Given the description of an element on the screen output the (x, y) to click on. 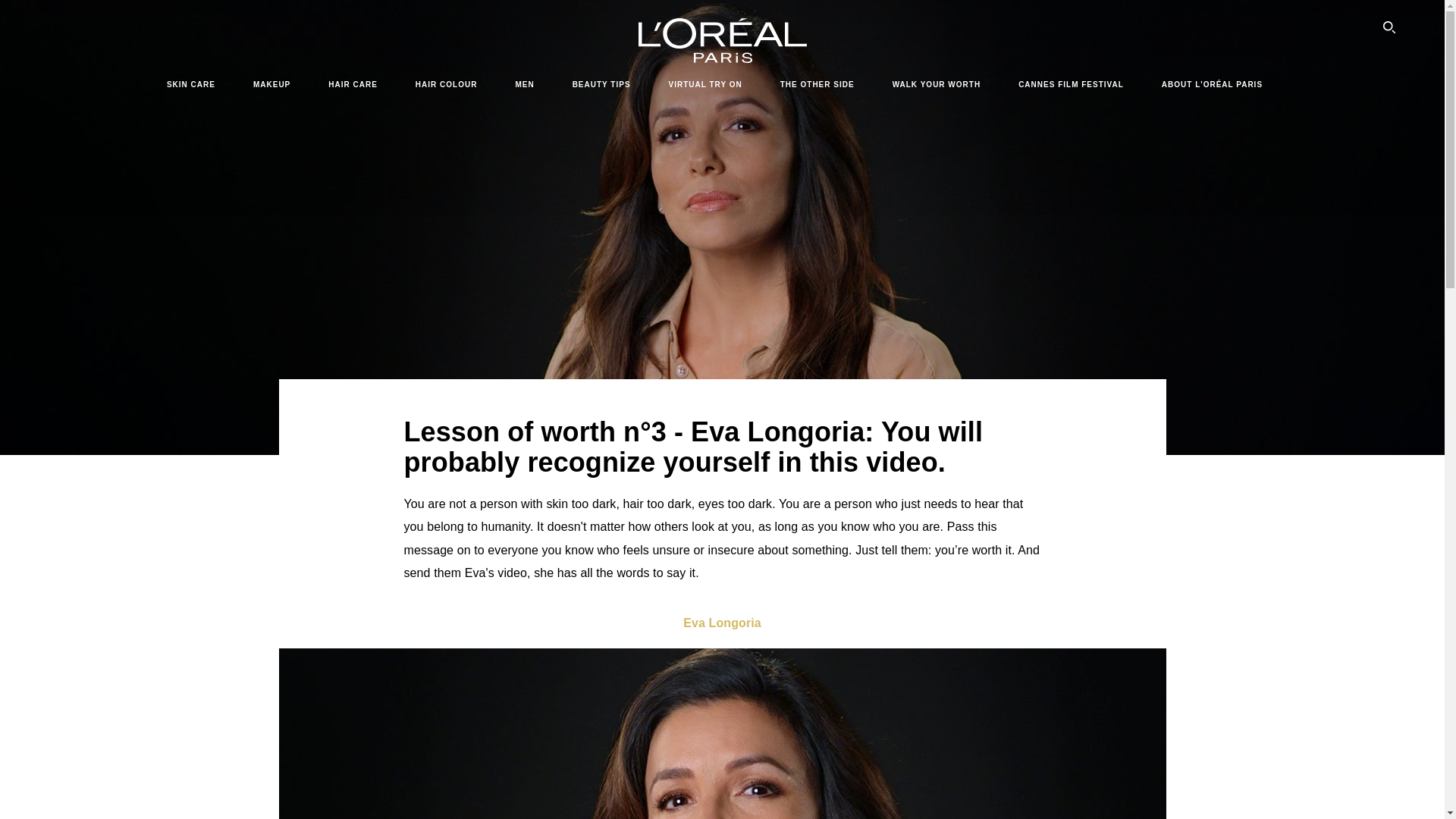
MAKEUP (271, 84)
SKIN CARE (191, 84)
